Given the description of an element on the screen output the (x, y) to click on. 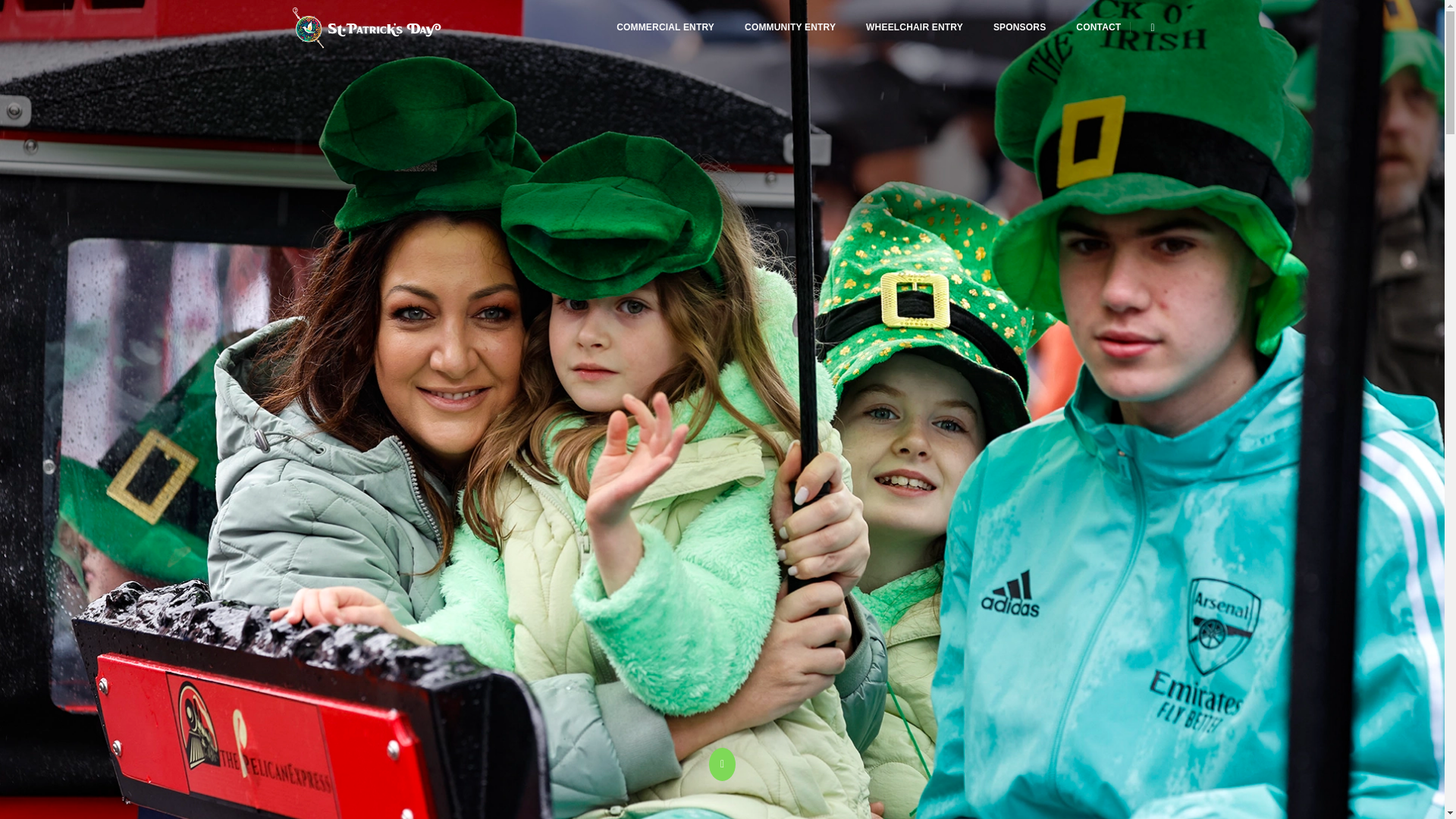
Blog (1018, 27)
COMMUNITY ENTRY (789, 27)
SPONSORS (1018, 27)
Work (789, 27)
St. Patrick's Day Parade 2024. Dundalk. Ireland. (367, 26)
Team (914, 27)
Facebook (1147, 27)
Services (664, 27)
COMMERCIAL ENTRY (664, 27)
WHEELCHAIR ENTRY (914, 27)
